Given the description of an element on the screen output the (x, y) to click on. 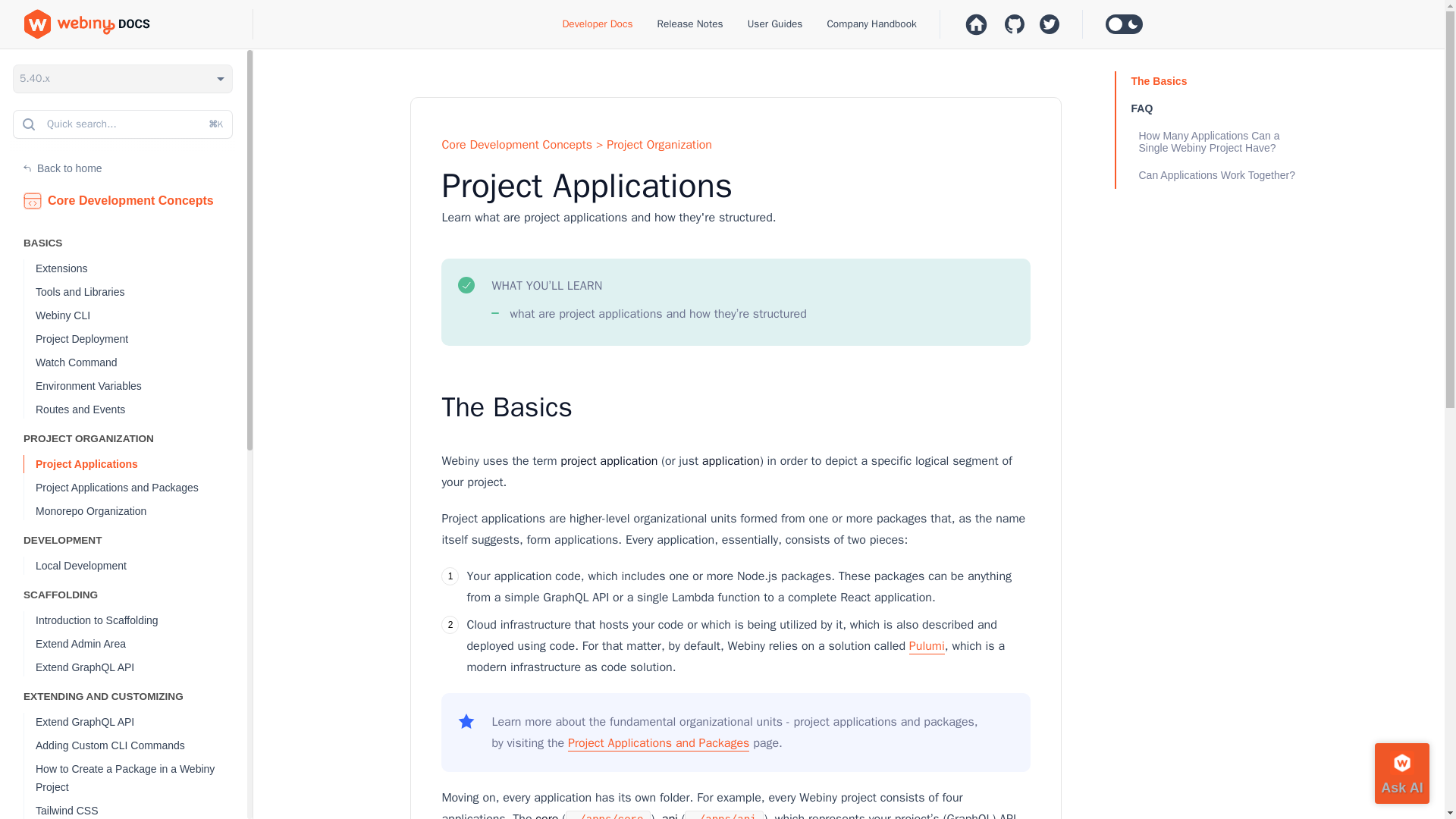
Watch Command (140, 361)
Webiny Docs on GitHub (1049, 24)
Core Development Concepts (32, 200)
Webiny Docs on GitHub (1014, 24)
Introduction to Scaffolding (140, 619)
Release Notes (690, 23)
Adding Custom CLI Commands (140, 745)
Routes and Events (140, 409)
Project Applications and Packages (140, 487)
Project Deployment (140, 339)
Webiny Docs home page (138, 24)
Local Development (140, 565)
How to Create a Package in a Webiny Project (140, 778)
Extensions (140, 268)
Extend GraphQL API (140, 667)
